Given the description of an element on the screen output the (x, y) to click on. 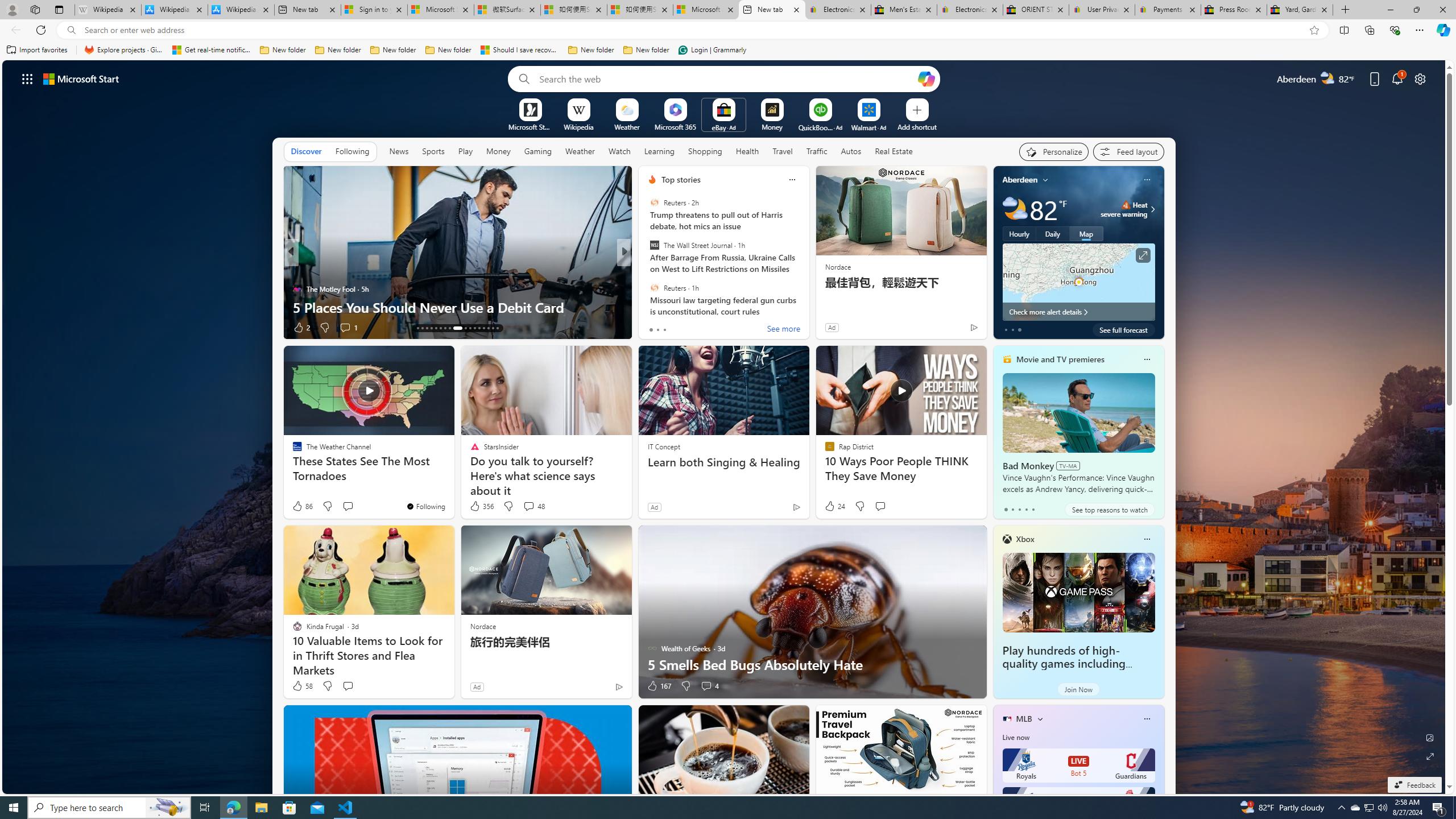
Xbox (1025, 538)
AutomationID: tab-28 (492, 328)
167 Like (658, 685)
Shopping (705, 151)
Aberdeen (1019, 179)
Gaming (537, 151)
AutomationID: tab-20 (449, 328)
You're following Newsweek (949, 329)
View comments 4 Comment (705, 685)
Deadly Landslide In Alaska Damages Homes (807, 307)
Partly cloudy (1014, 208)
tab-0 (1005, 509)
